Given the description of an element on the screen output the (x, y) to click on. 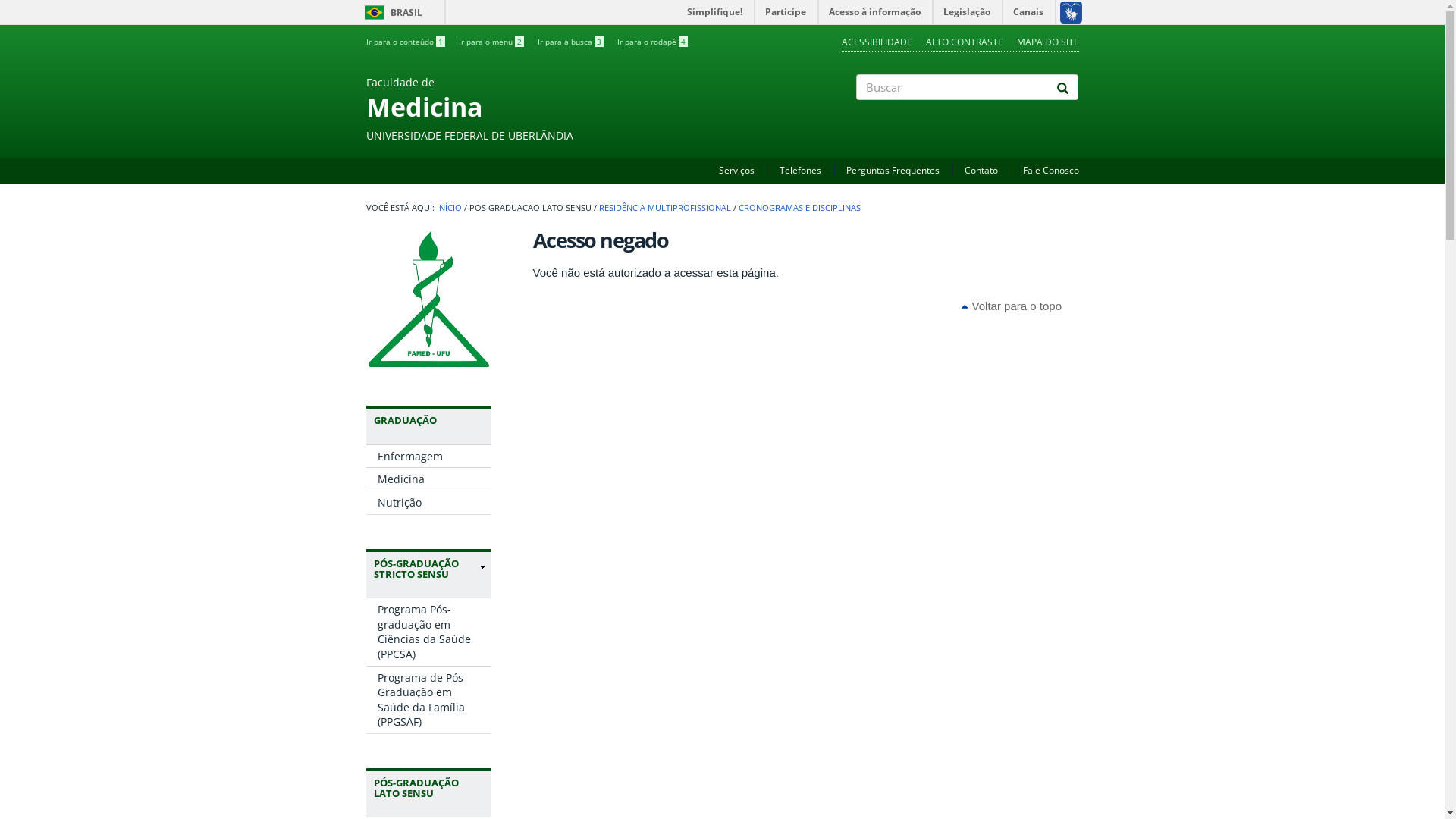
ALTO CONTRASTE Element type: text (963, 41)
CRONOGRAMAS E DISCIPLINAS Element type: text (799, 207)
ACESSIBILIDADE Element type: text (876, 41)
Medicina Element type: text (427, 478)
Perguntas Frequentes Element type: text (892, 169)
Voltar para o topo Element type: text (1011, 305)
Buscar Element type: text (856, 112)
BRASIL Element type: text (373, 12)
Ir para a busca 3 Element type: text (569, 41)
MAPA DO SITE Element type: text (1047, 41)
Telefones Element type: text (800, 169)
Ir para o menu 2 Element type: text (490, 41)
Contato Element type: text (980, 169)
Fale Conosco Element type: text (1050, 169)
Enfermagem Element type: text (427, 456)
